Given the description of an element on the screen output the (x, y) to click on. 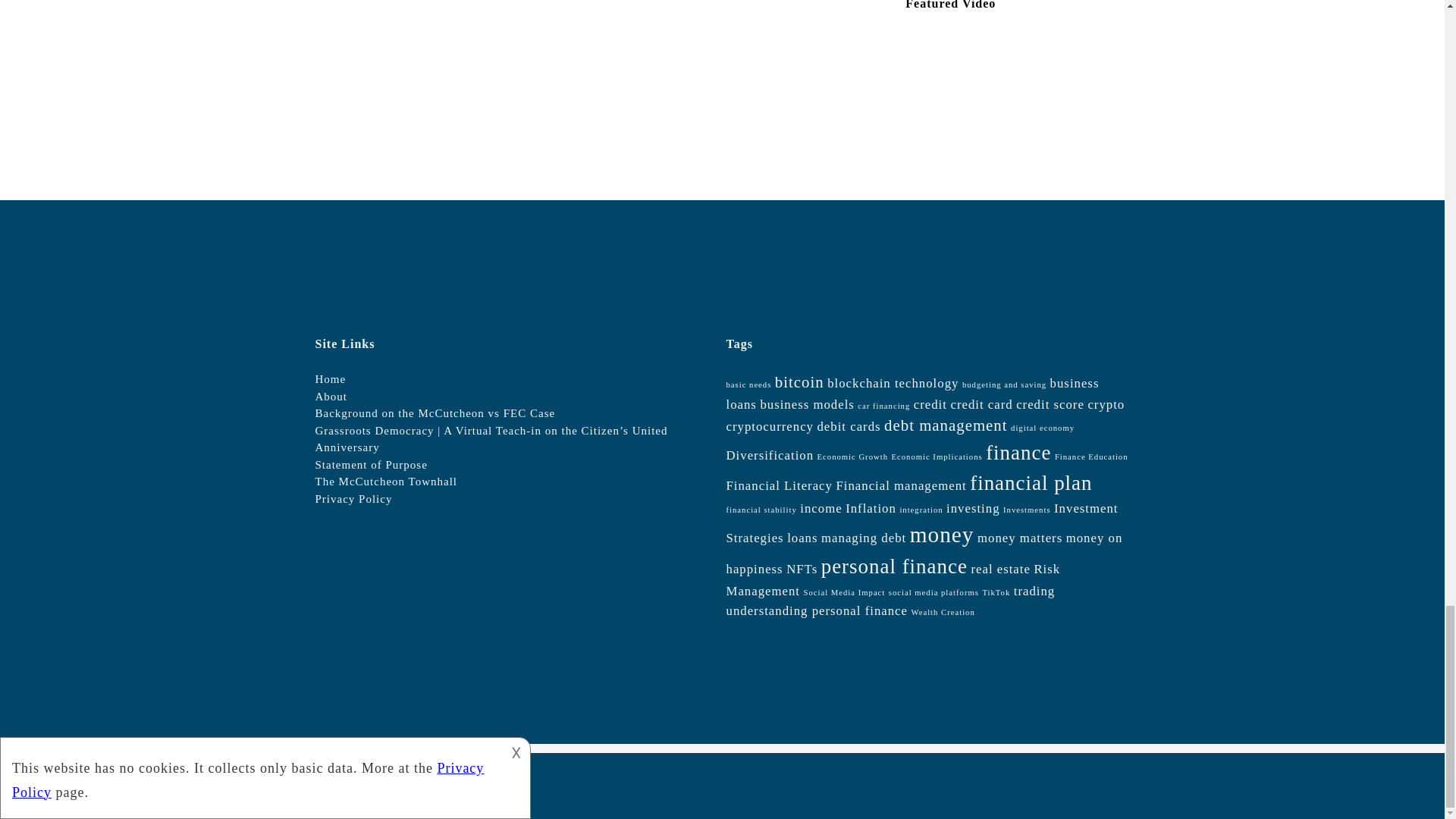
YouTube video player (1015, 96)
